Given the description of an element on the screen output the (x, y) to click on. 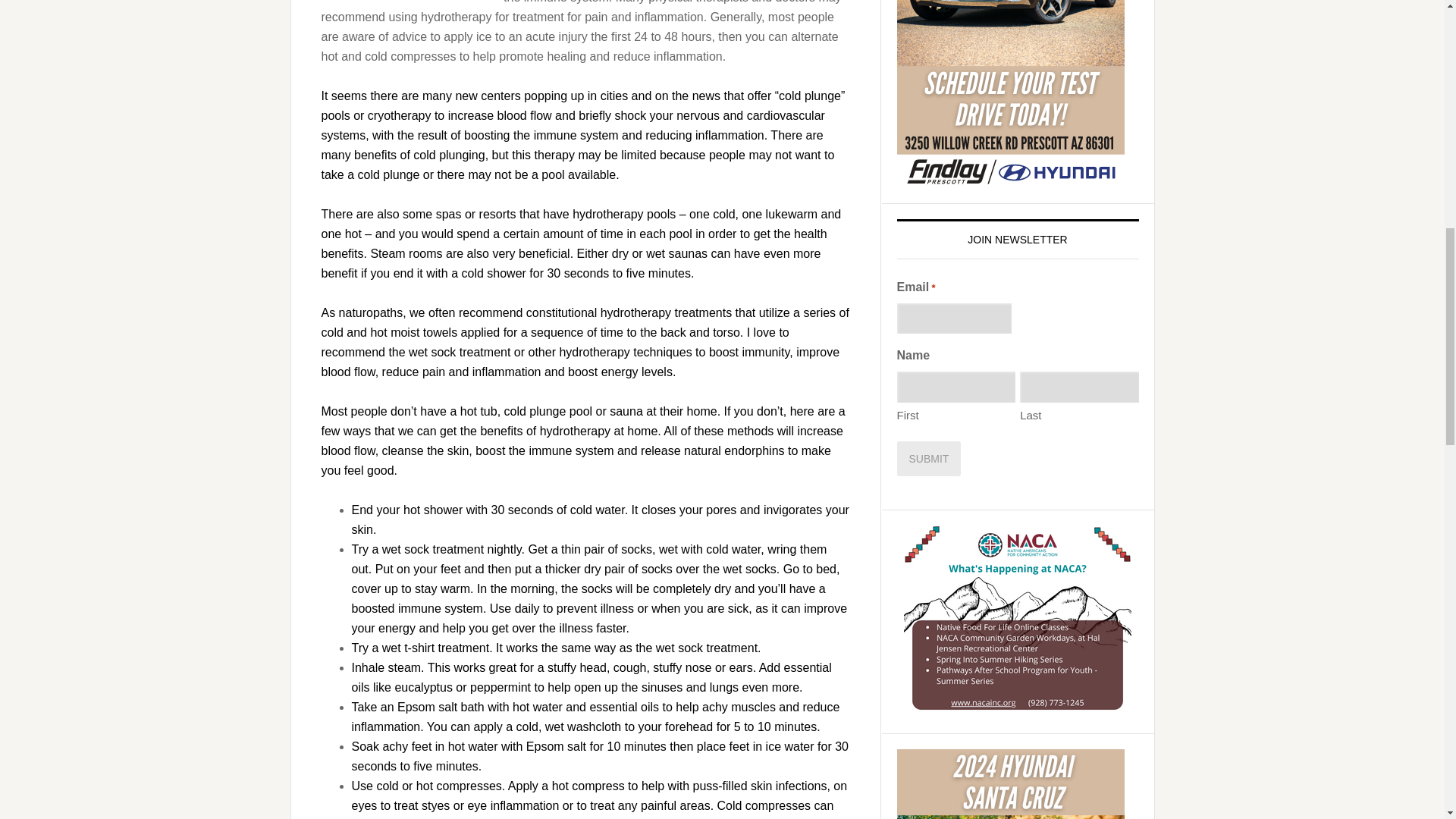
Submit (928, 458)
Submit (928, 458)
